Given the description of an element on the screen output the (x, y) to click on. 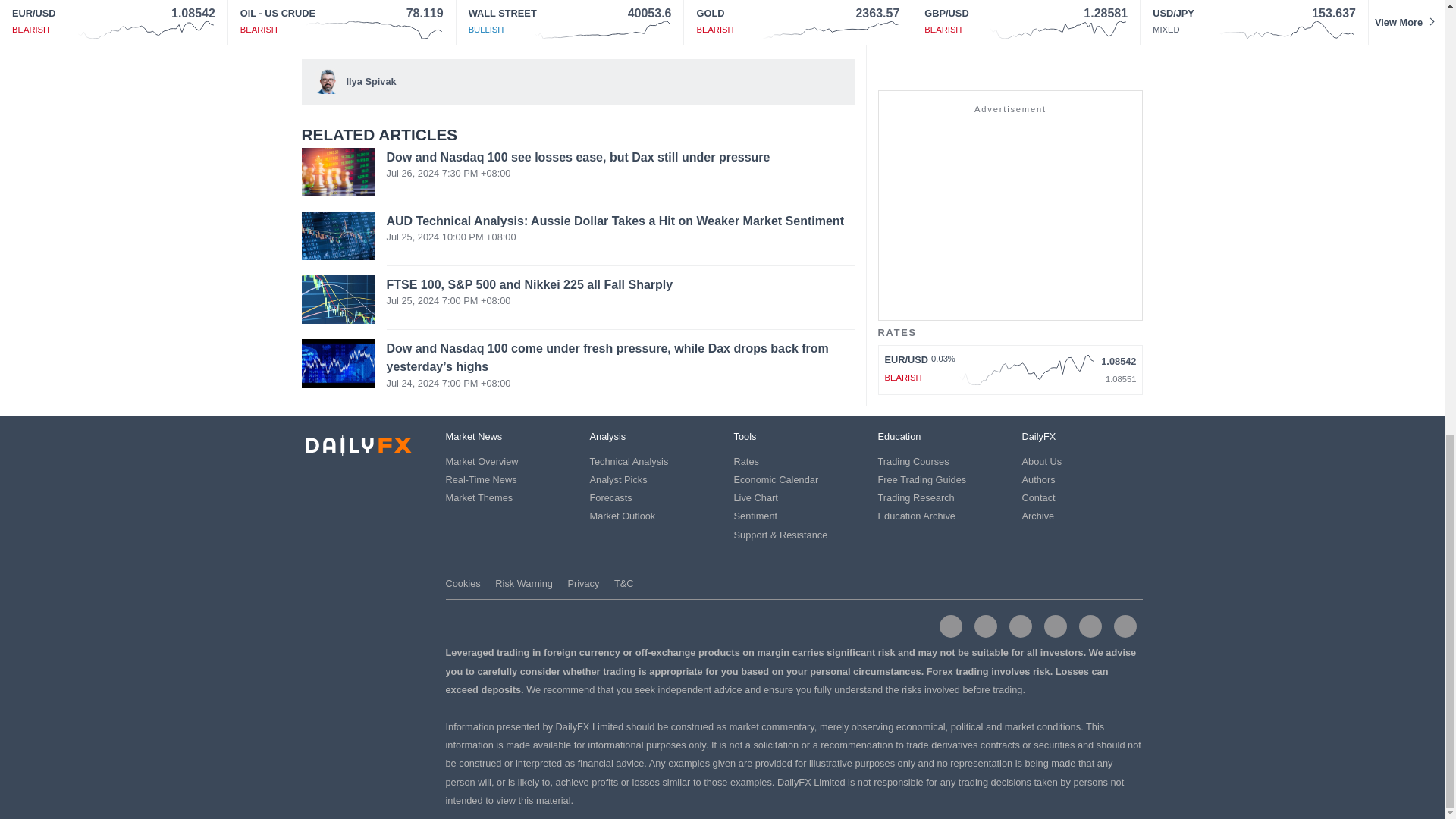
Analyst Picks (618, 479)
Market Themes (479, 497)
Analysis (607, 436)
Technical Analysis (628, 460)
Real-Time News (480, 479)
Rates (745, 460)
Market Outlook (622, 515)
Market News (473, 436)
Live Chart (755, 497)
Economic Calendar (775, 479)
Tools (745, 436)
Forecasts (610, 497)
Market Overview (481, 460)
Sentiment (755, 515)
